Given the description of an element on the screen output the (x, y) to click on. 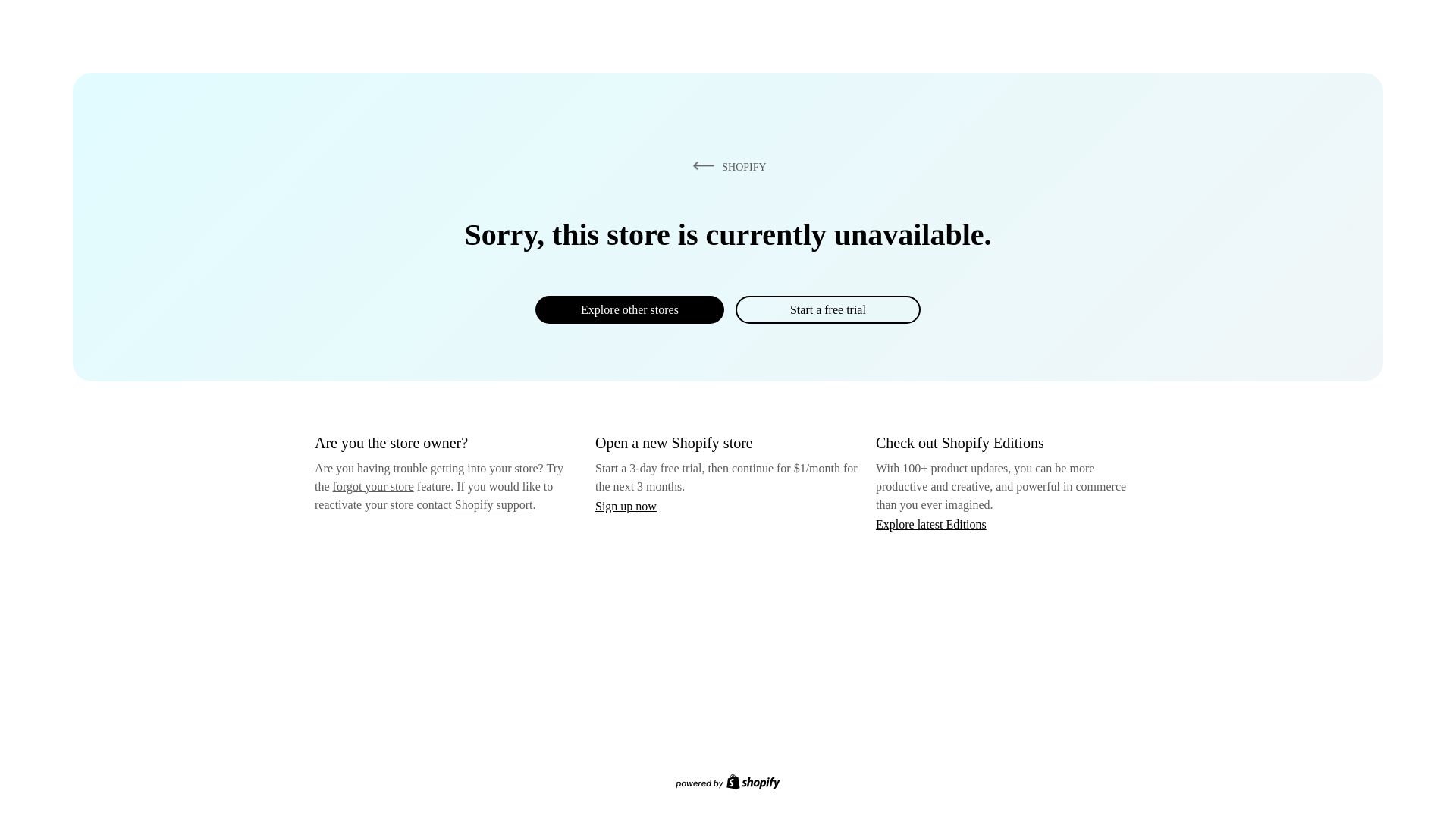
forgot your store (373, 486)
SHOPIFY (726, 166)
Sign up now (625, 505)
Explore other stores (629, 309)
Explore latest Editions (931, 523)
Shopify support (493, 504)
Start a free trial (827, 309)
